Given the description of an element on the screen output the (x, y) to click on. 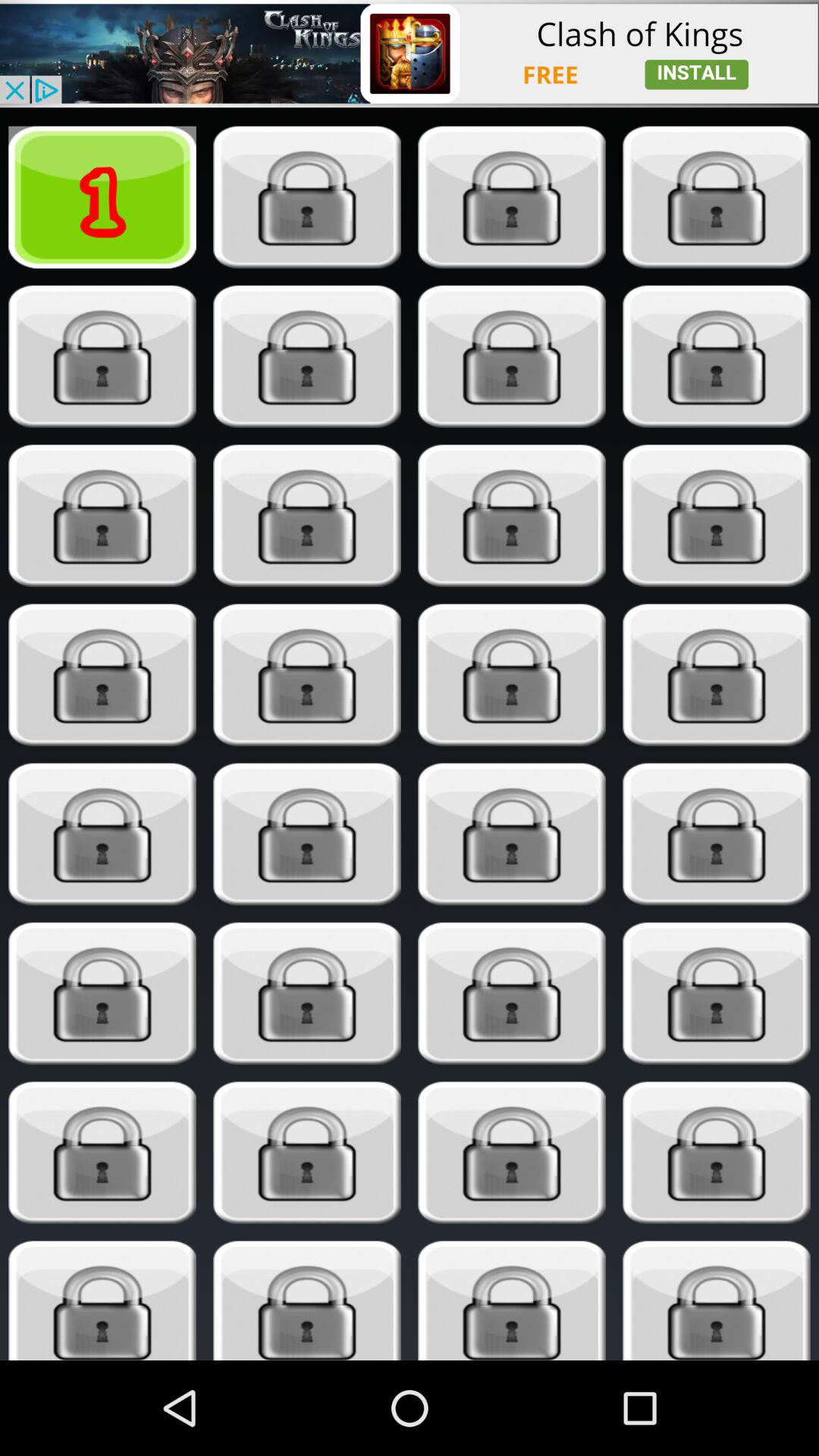
open the highlighted window (306, 515)
